Given the description of an element on the screen output the (x, y) to click on. 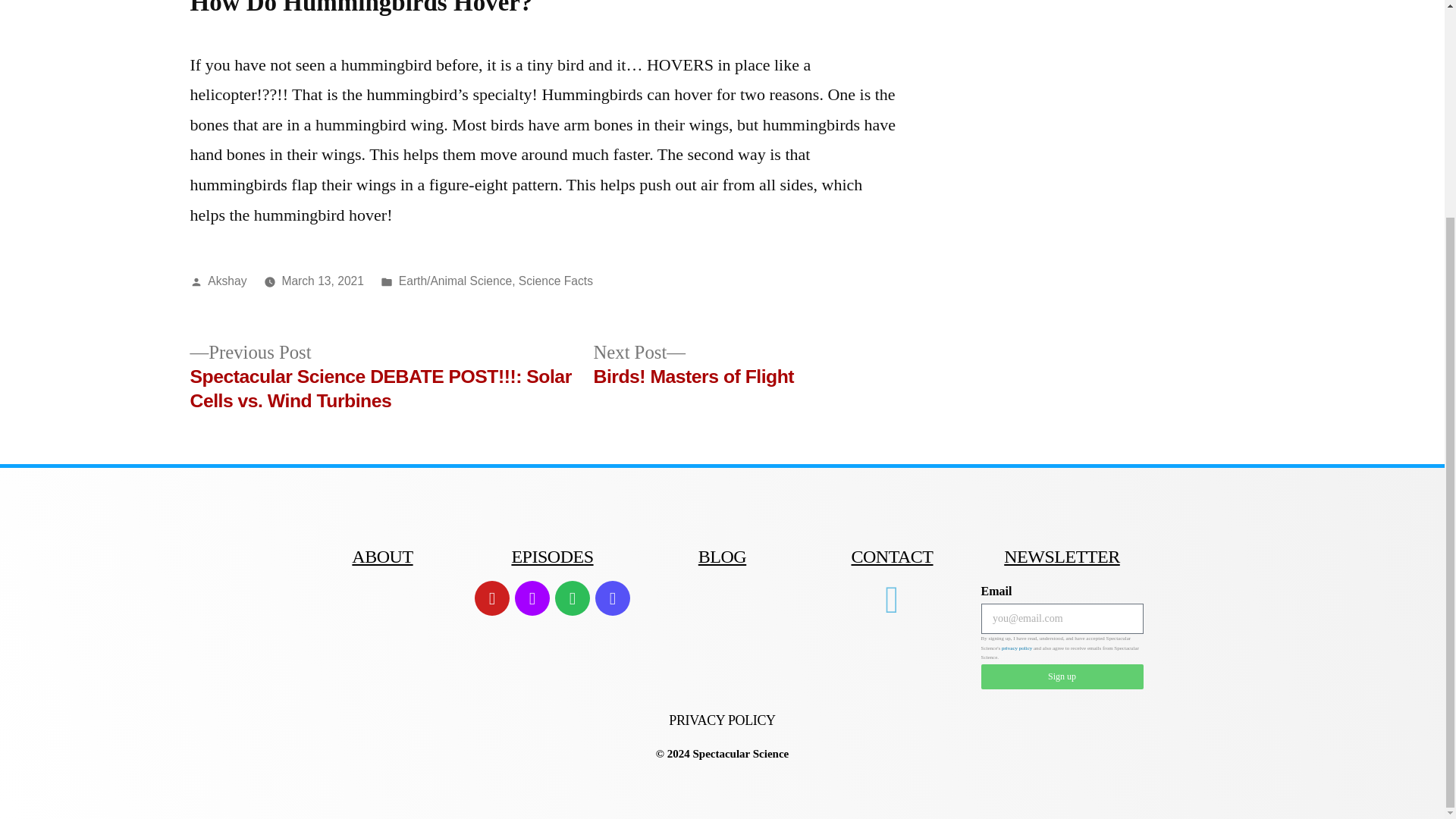
Science Facts (555, 280)
privacy policy (1016, 648)
NEWSLETTER (692, 365)
March 13, 2021 (1061, 556)
PRIVACY POLICY (322, 280)
Sign up (722, 720)
BLOG (1061, 676)
EPISODES (721, 556)
Akshay (551, 556)
ABOUT (227, 280)
CONTACT (382, 556)
